Given the description of an element on the screen output the (x, y) to click on. 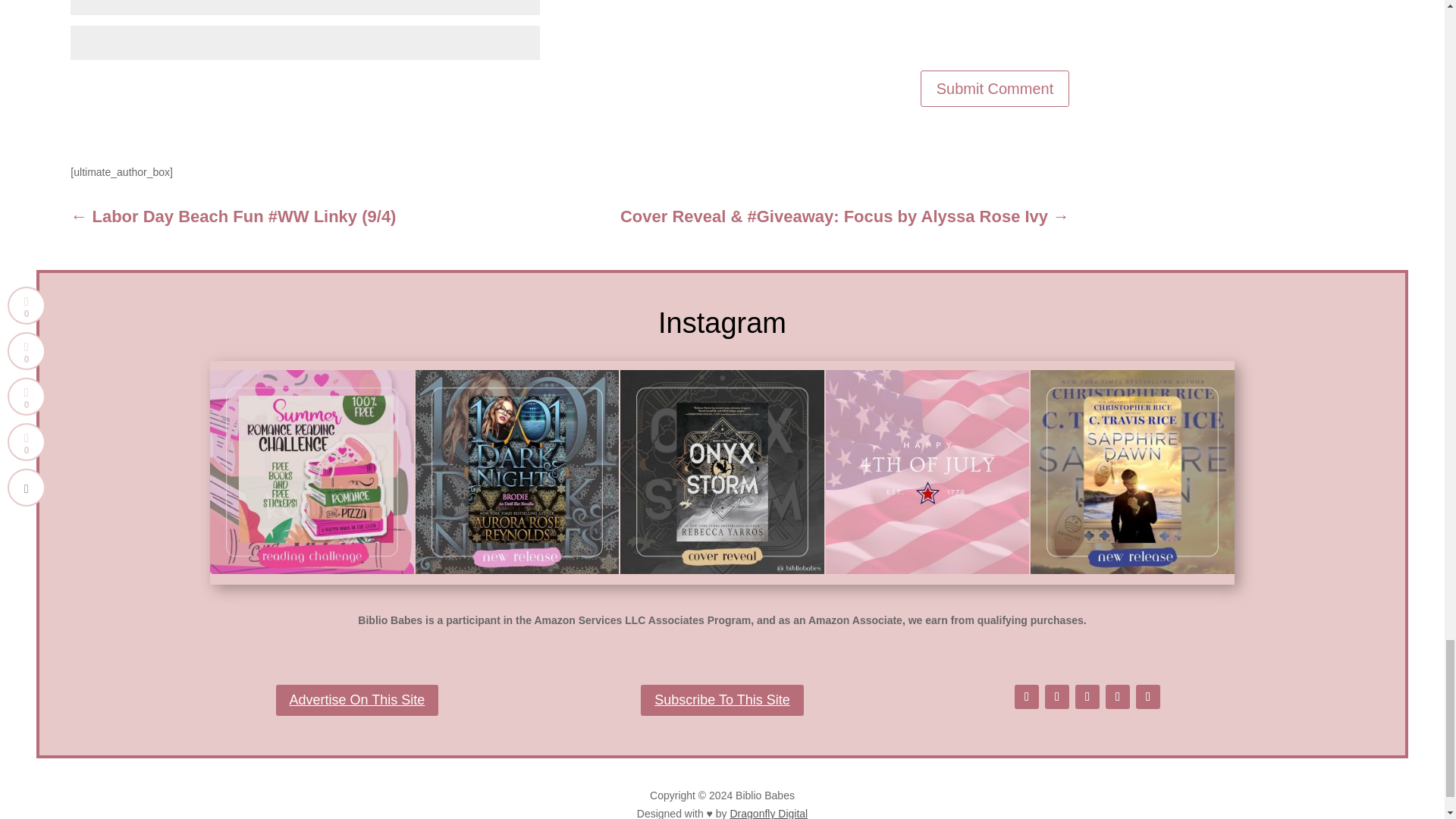
Follow on Facebook (1026, 696)
Follow on X (1056, 696)
Follow on Instagram (1087, 696)
